Given the description of an element on the screen output the (x, y) to click on. 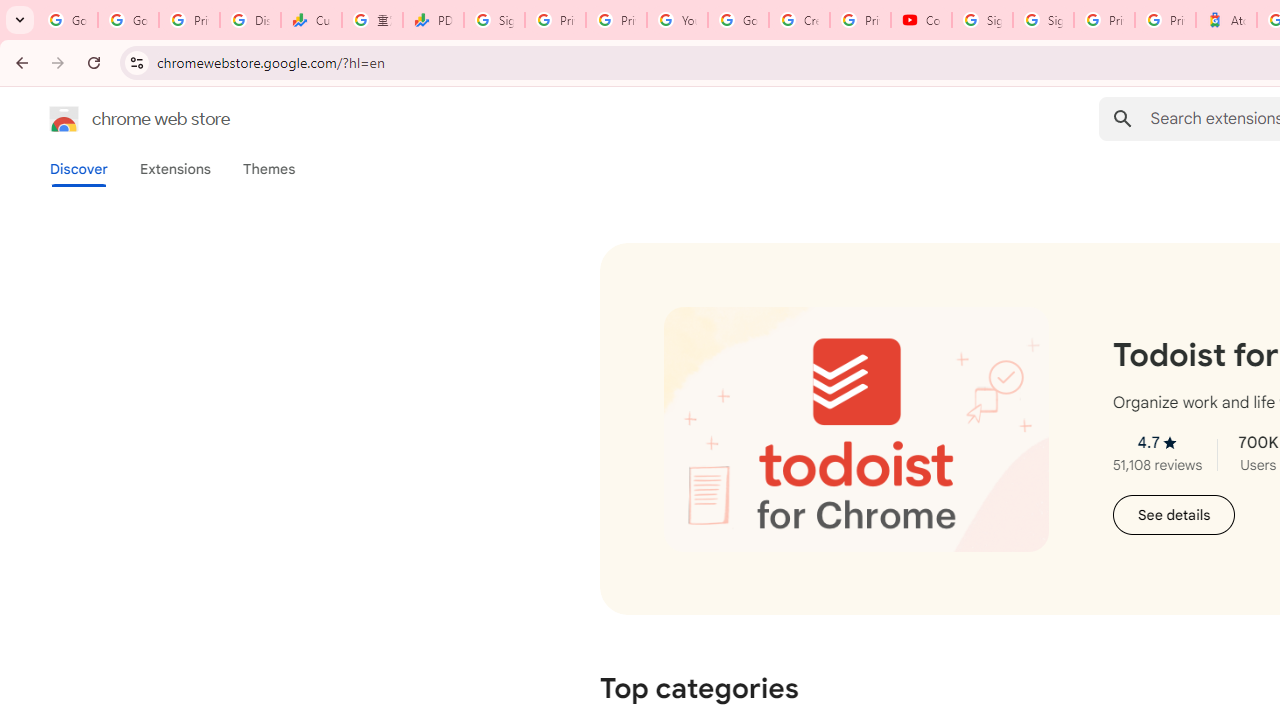
Themes (269, 169)
Privacy Checkup (616, 20)
Chrome Web Store logo (63, 118)
Google Workspace Admin Community (67, 20)
Sign in - Google Accounts (1042, 20)
